Given the description of an element on the screen output the (x, y) to click on. 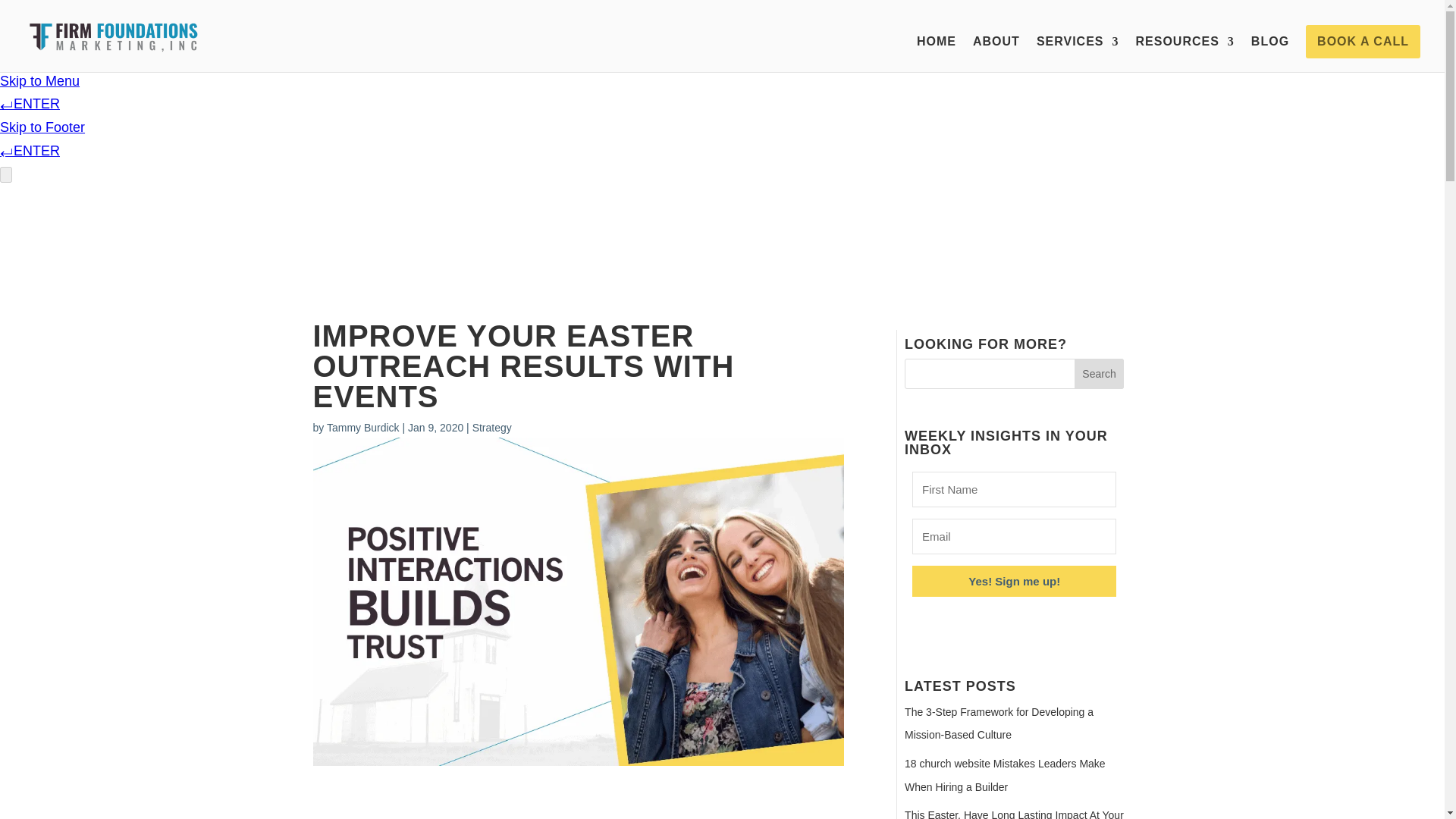
Strategy (491, 427)
BLOG (1269, 54)
Search (1099, 373)
Tammy Burdick (362, 427)
SERVICES (1077, 54)
ABOUT (996, 54)
HOME (936, 54)
Posts by Tammy Burdick (362, 427)
RESOURCES (1184, 54)
BOOK A CALL (1363, 41)
